Given the description of an element on the screen output the (x, y) to click on. 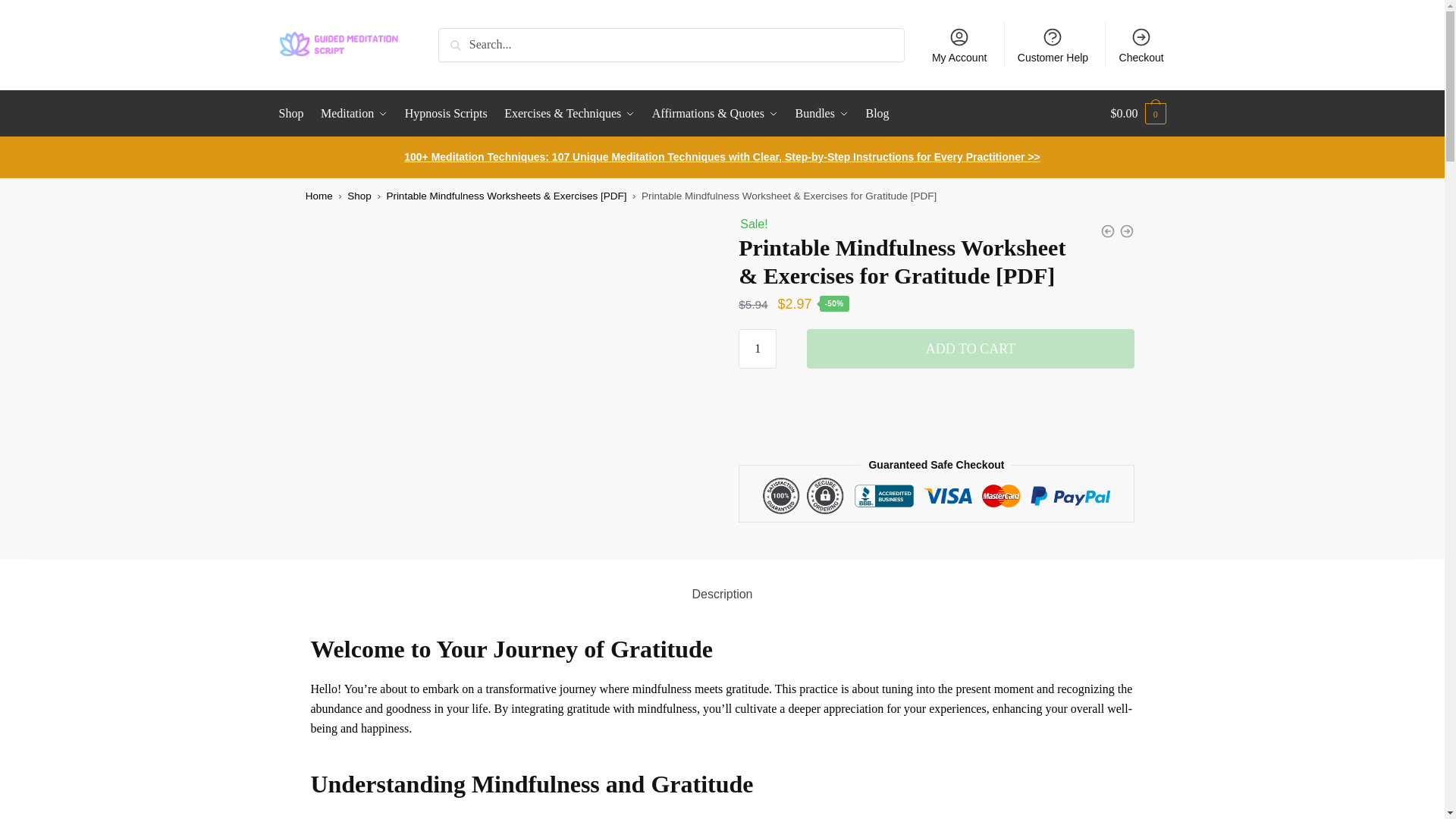
Hypnosis Scripts (446, 113)
View your shopping cart (1137, 113)
Customer Help (1053, 44)
1 (757, 348)
My Account (959, 44)
Bundles (822, 113)
Checkout (1141, 44)
Search (459, 38)
Meditation (354, 113)
